Given the description of an element on the screen output the (x, y) to click on. 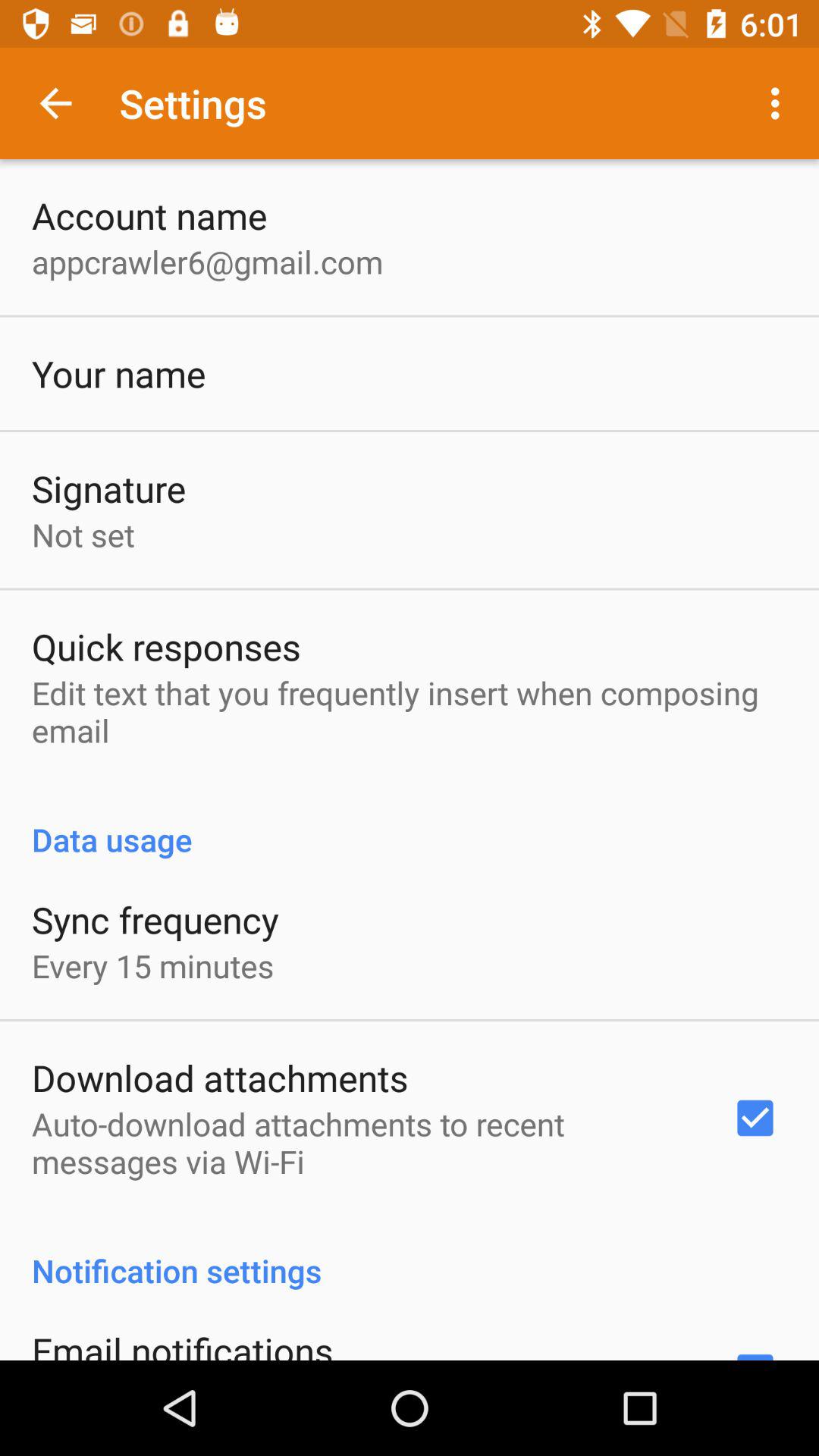
launch the app above not set app (108, 488)
